Given the description of an element on the screen output the (x, y) to click on. 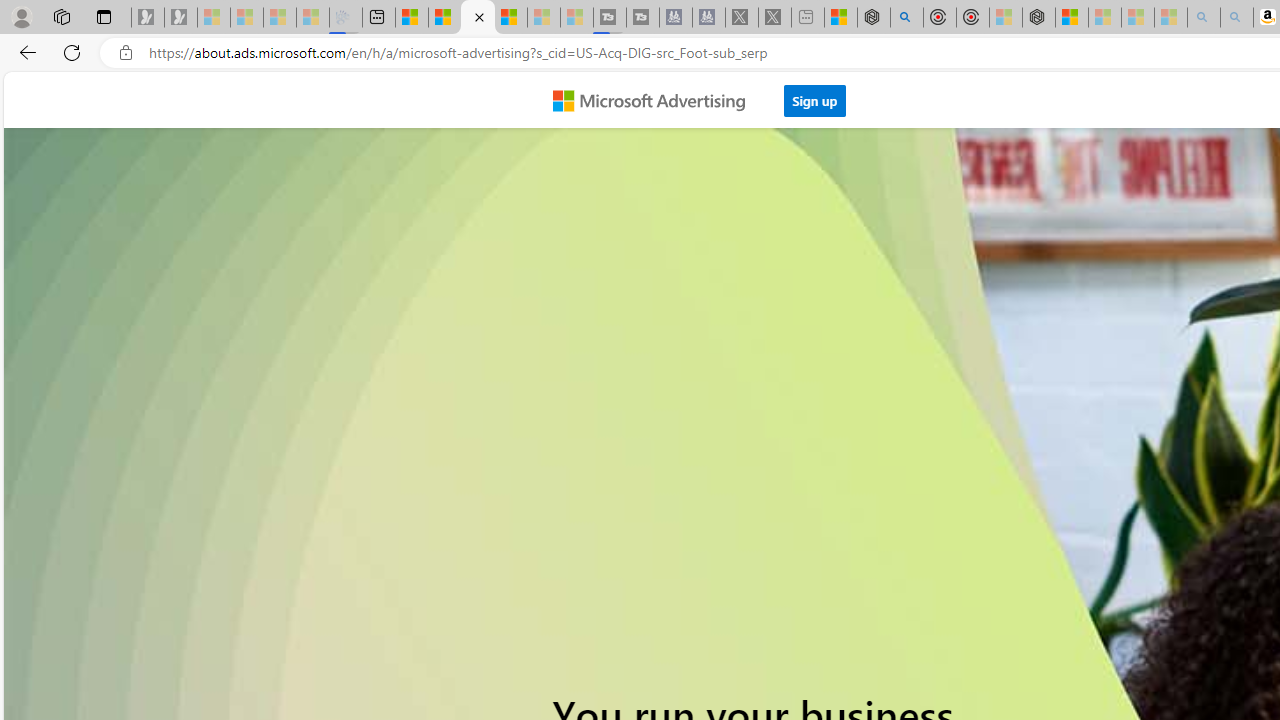
Nordace - Nordace Siena Is Not An Ordinary Backpack (1038, 17)
Newsletter Sign Up - Sleeping (181, 17)
Sign up (815, 100)
Microsoft Advertising (656, 99)
Amazon Echo Dot PNG - Search Images - Sleeping (1237, 17)
